Given the description of an element on the screen output the (x, y) to click on. 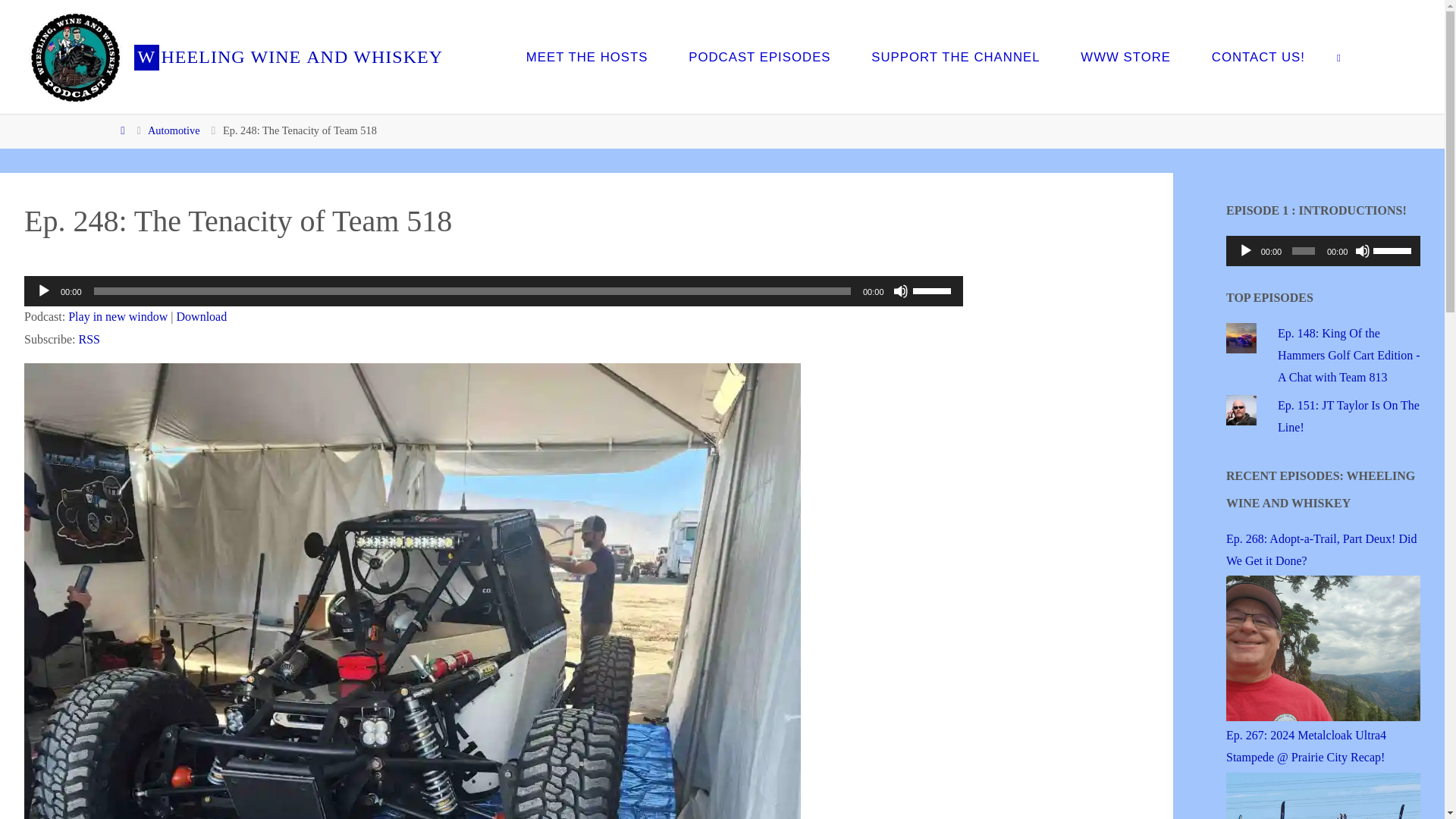
Play in new window (117, 316)
Play in new window (117, 316)
Automotive (174, 130)
SUPPORT THE CHANNEL (954, 56)
Mute (1362, 250)
PODCAST EPISODES (759, 56)
Play (43, 290)
Download (201, 316)
Subscribe via RSS (89, 338)
CONTACT US! (1257, 56)
Wheeling Wine And Whiskey (74, 56)
Play (1246, 250)
WWW STORE (1125, 56)
RSS (89, 338)
MEET THE HOSTS (586, 56)
